Given the description of an element on the screen output the (x, y) to click on. 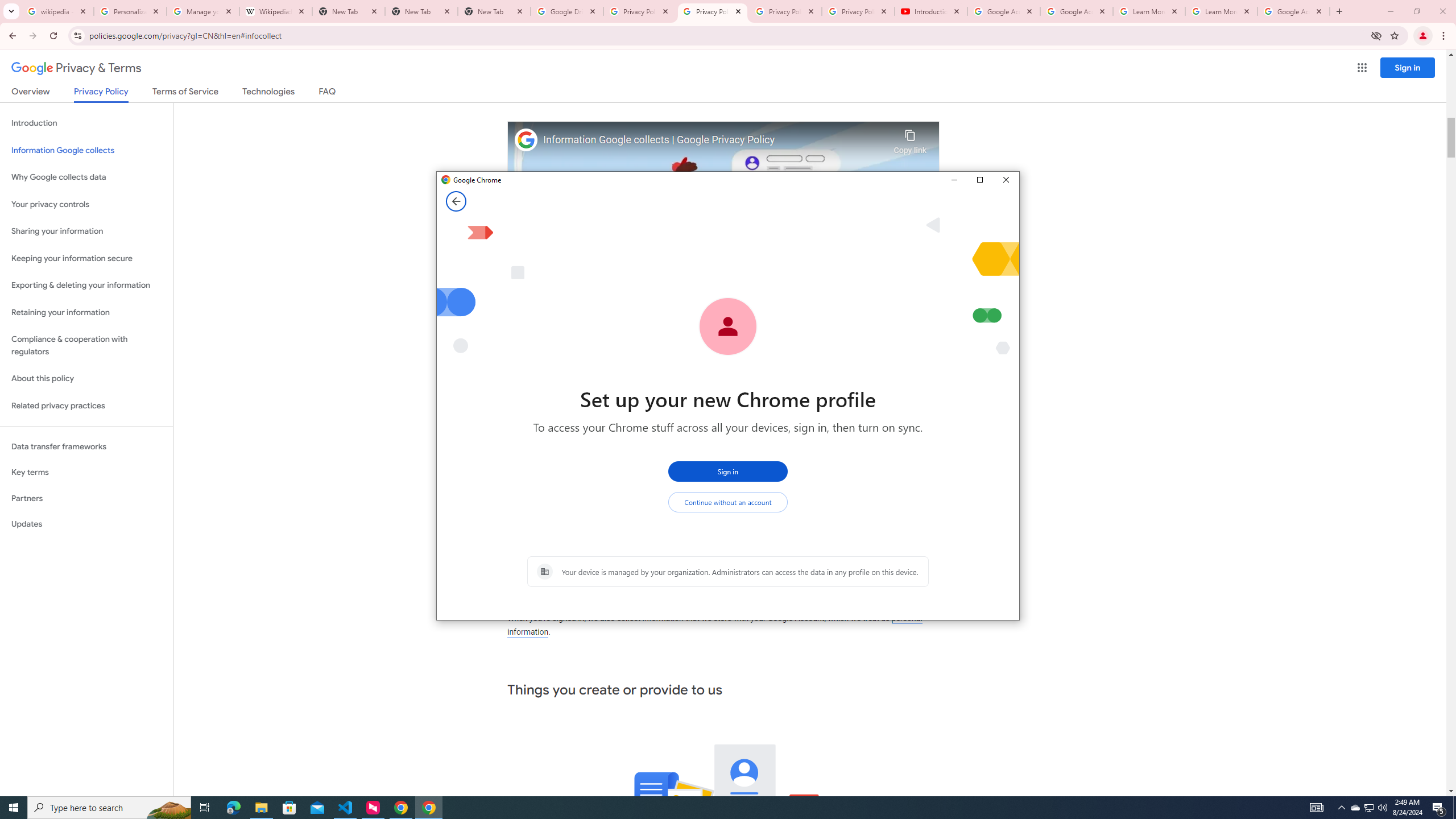
Your privacy controls (86, 204)
Partners (86, 497)
Introduction | Google Privacy Policy - YouTube (930, 11)
Google Account (1293, 11)
Introduction (86, 122)
New Tab (421, 11)
Task View (204, 807)
Copy link (909, 139)
Microsoft Edge (233, 807)
Start (13, 807)
Updates (86, 524)
